Given the description of an element on the screen output the (x, y) to click on. 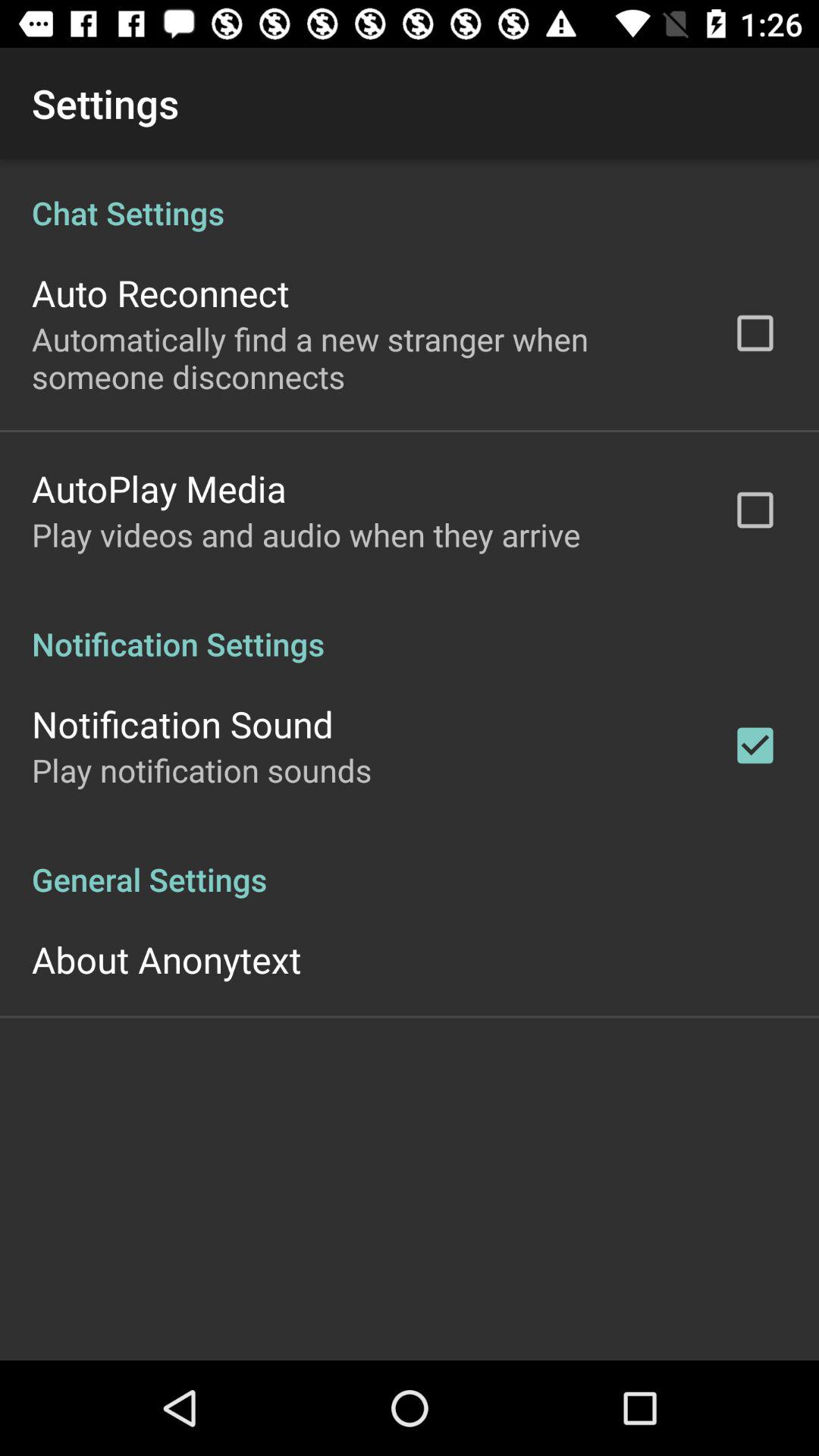
click general settings icon (409, 862)
